Given the description of an element on the screen output the (x, y) to click on. 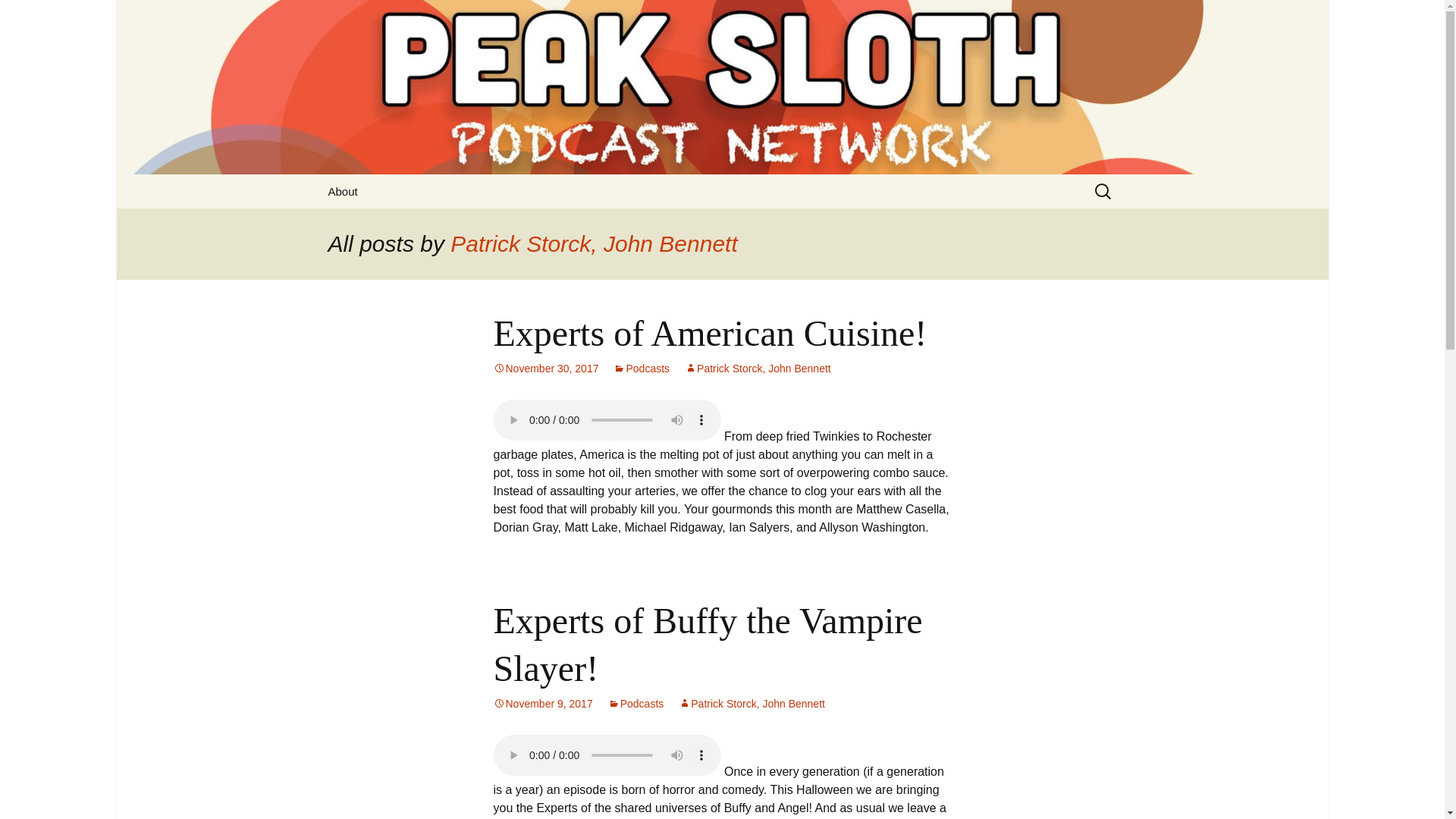
November 30, 2017 (545, 368)
Patrick Storck, John Bennett (593, 243)
View all posts by Patrick Storck, John Bennett (757, 368)
View all posts by Patrick Storck, John Bennett (751, 703)
Patrick Storck, John Bennett (751, 703)
About (342, 191)
Experts of American Cuisine! (709, 332)
